Given the description of an element on the screen output the (x, y) to click on. 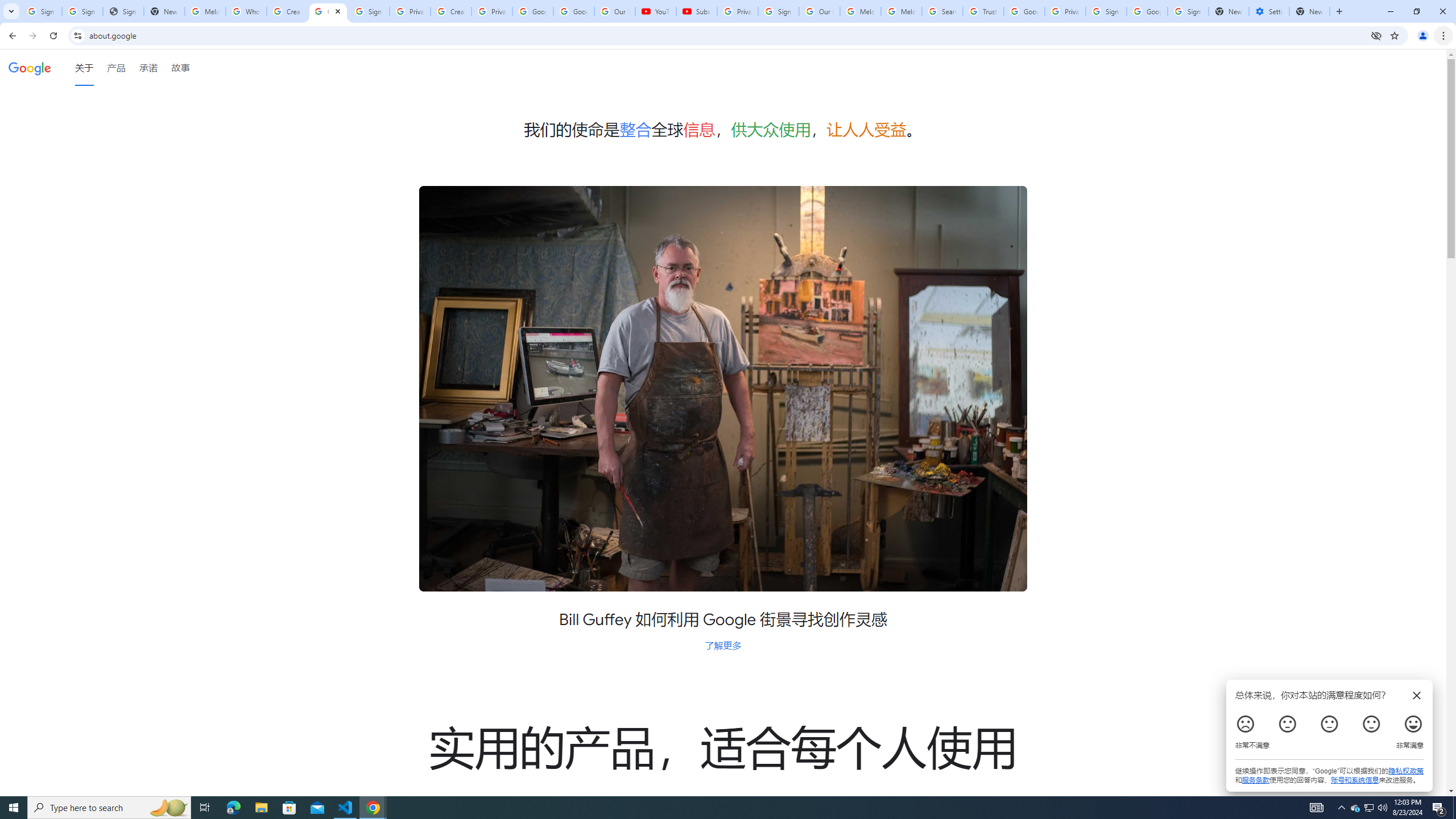
Search our Doodle Library Collection - Google Doodles (942, 11)
Create your Google Account (450, 11)
Who is my administrator? - Google Account Help (246, 11)
